Given the description of an element on the screen output the (x, y) to click on. 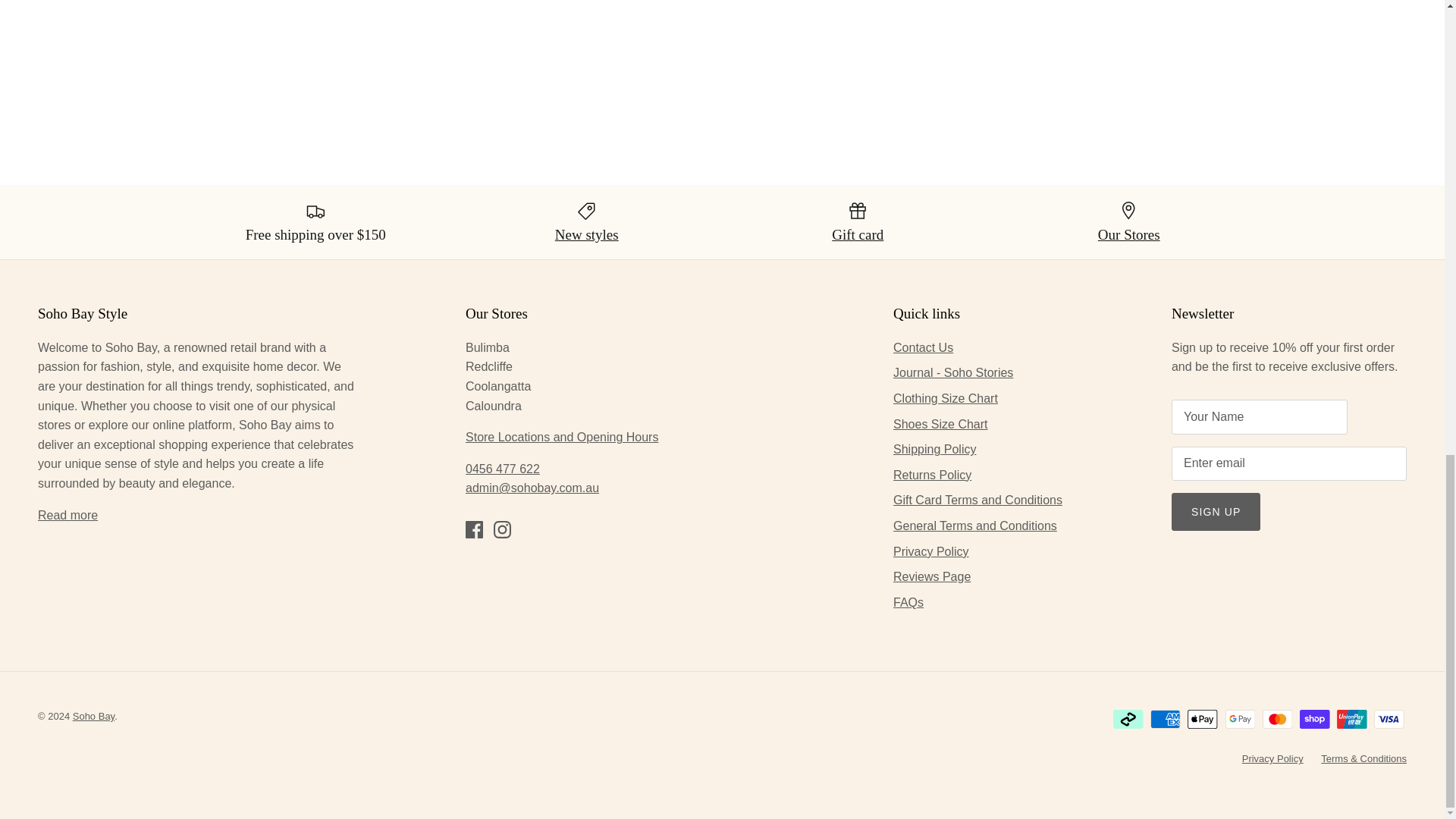
Mastercard (1277, 719)
Google Pay (1240, 719)
Shop Pay (1314, 719)
Afterpay (1127, 719)
Instagram (502, 529)
About Us (67, 514)
Facebook (474, 529)
American Express (1165, 719)
Apple Pay (1202, 719)
Email (531, 487)
